Given the description of an element on the screen output the (x, y) to click on. 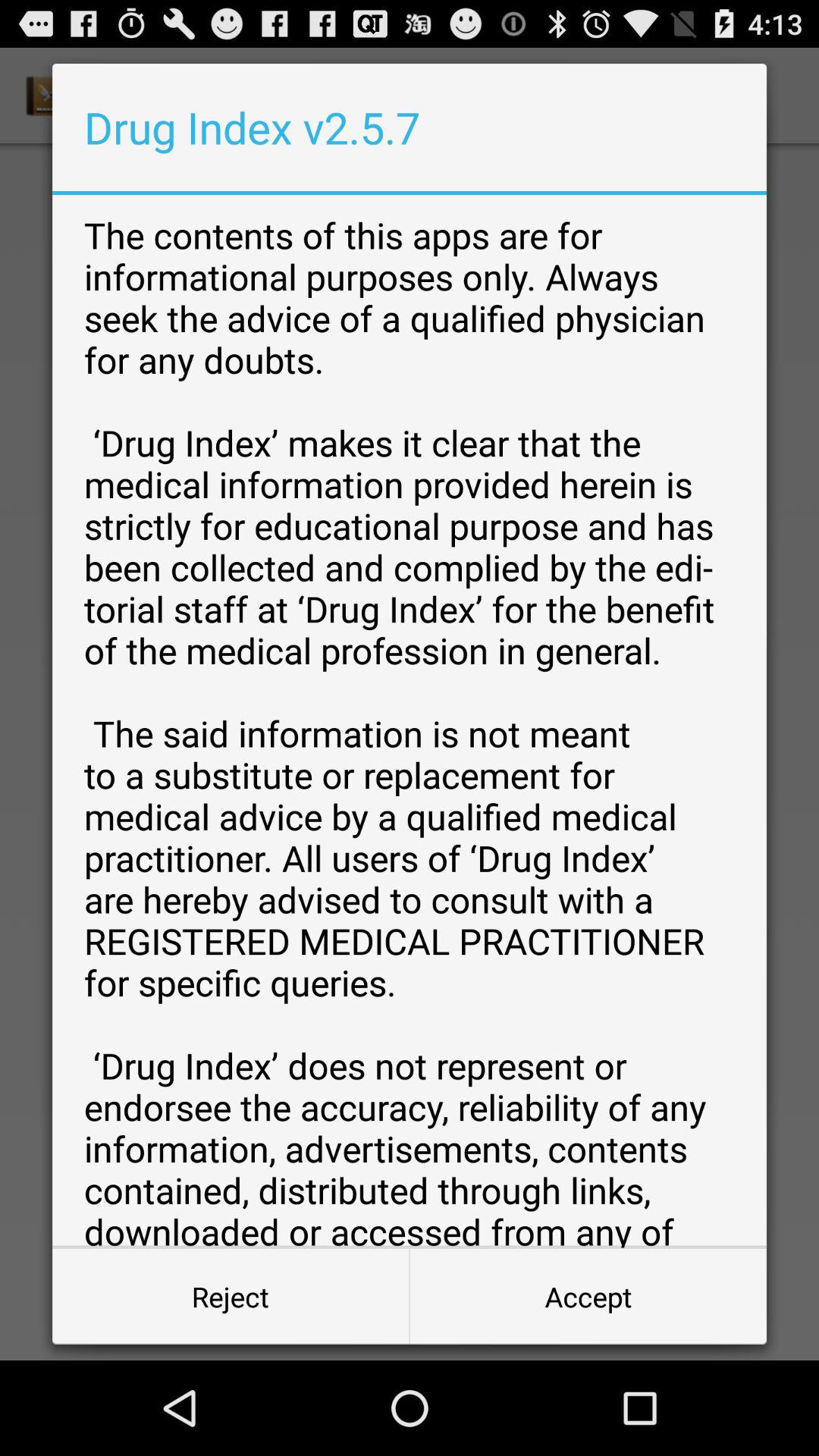
turn on button at the bottom left corner (230, 1296)
